Given the description of an element on the screen output the (x, y) to click on. 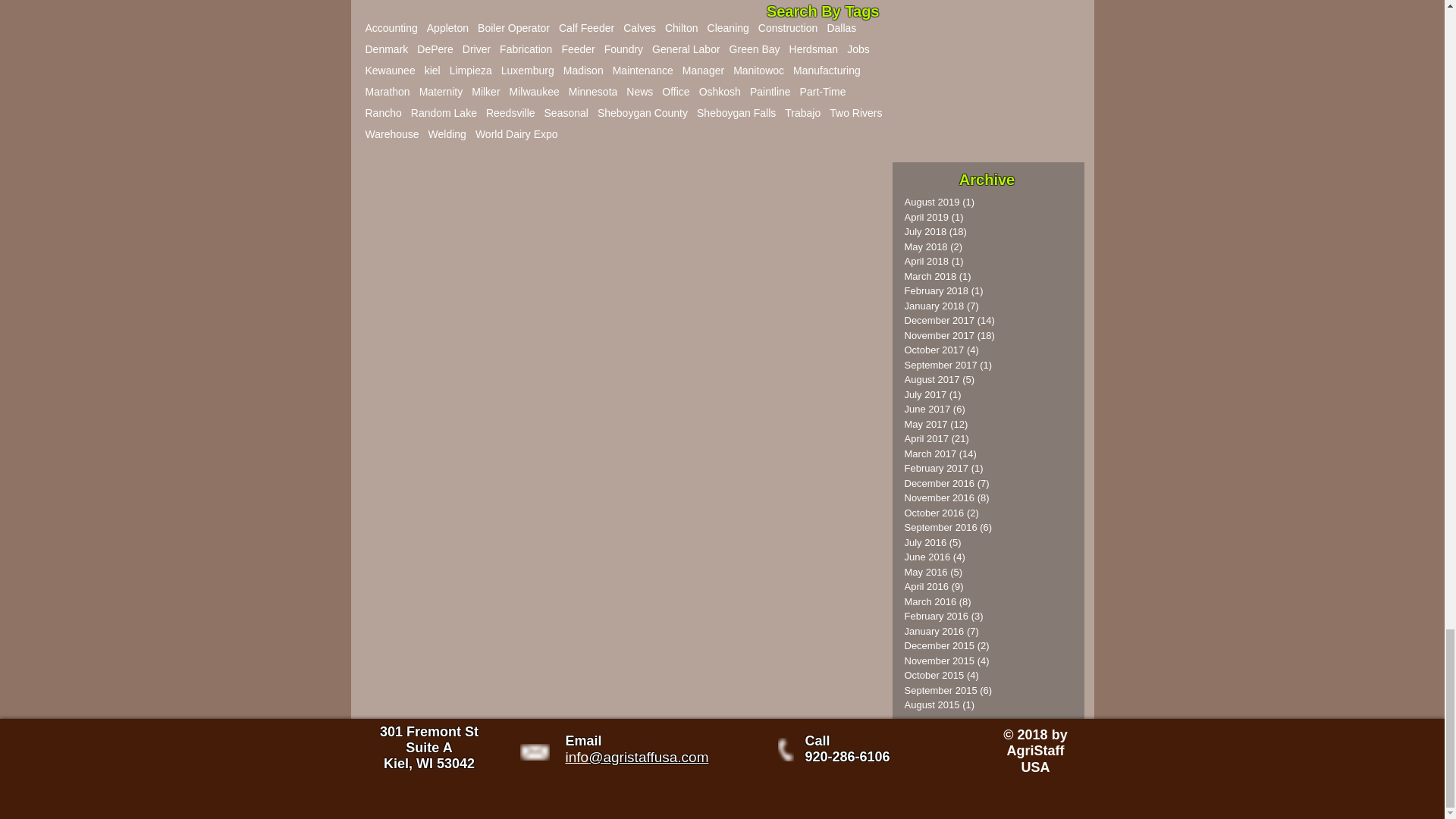
kiel (433, 70)
Accounting (391, 28)
Foundry (623, 49)
Appleton (447, 28)
Cleaning (728, 28)
Boiler Operator (513, 28)
General Labor (686, 49)
Calf Feeder (586, 28)
Luxemburg (527, 70)
Madison (583, 70)
